Given the description of an element on the screen output the (x, y) to click on. 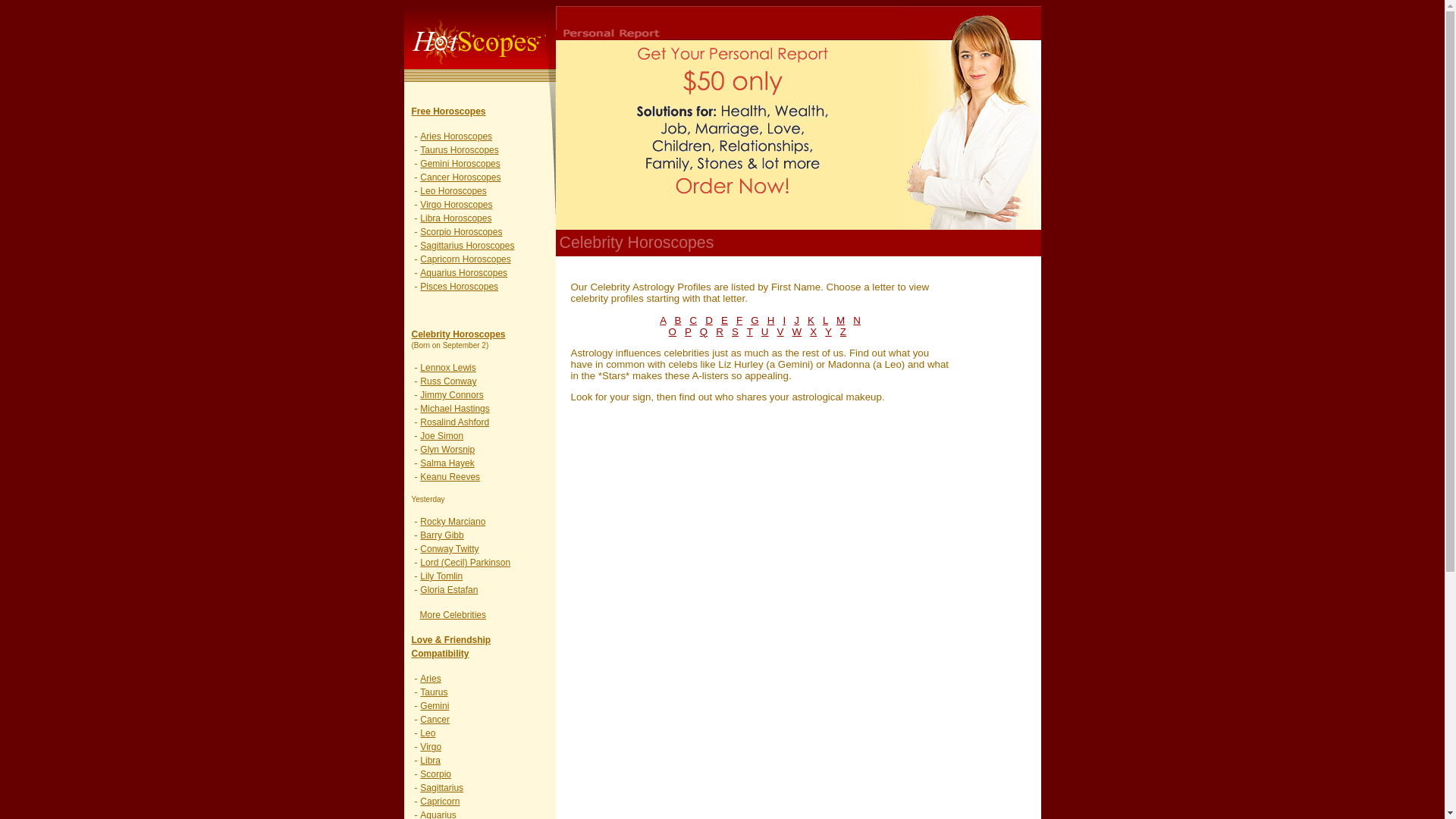
Scorpio Horoscopes (461, 231)
Joe Simon (441, 435)
Leo: July 22 - August 22 (453, 190)
Jimmy Connors (451, 394)
Virgo Horoscopes (456, 204)
Russ Conway (448, 380)
Virgo: August 23 - September 21 (456, 204)
Gloria Estafan (448, 589)
Sagittarius: November 22 - December 21 (466, 245)
Libra Horoscopes (456, 217)
